Given the description of an element on the screen output the (x, y) to click on. 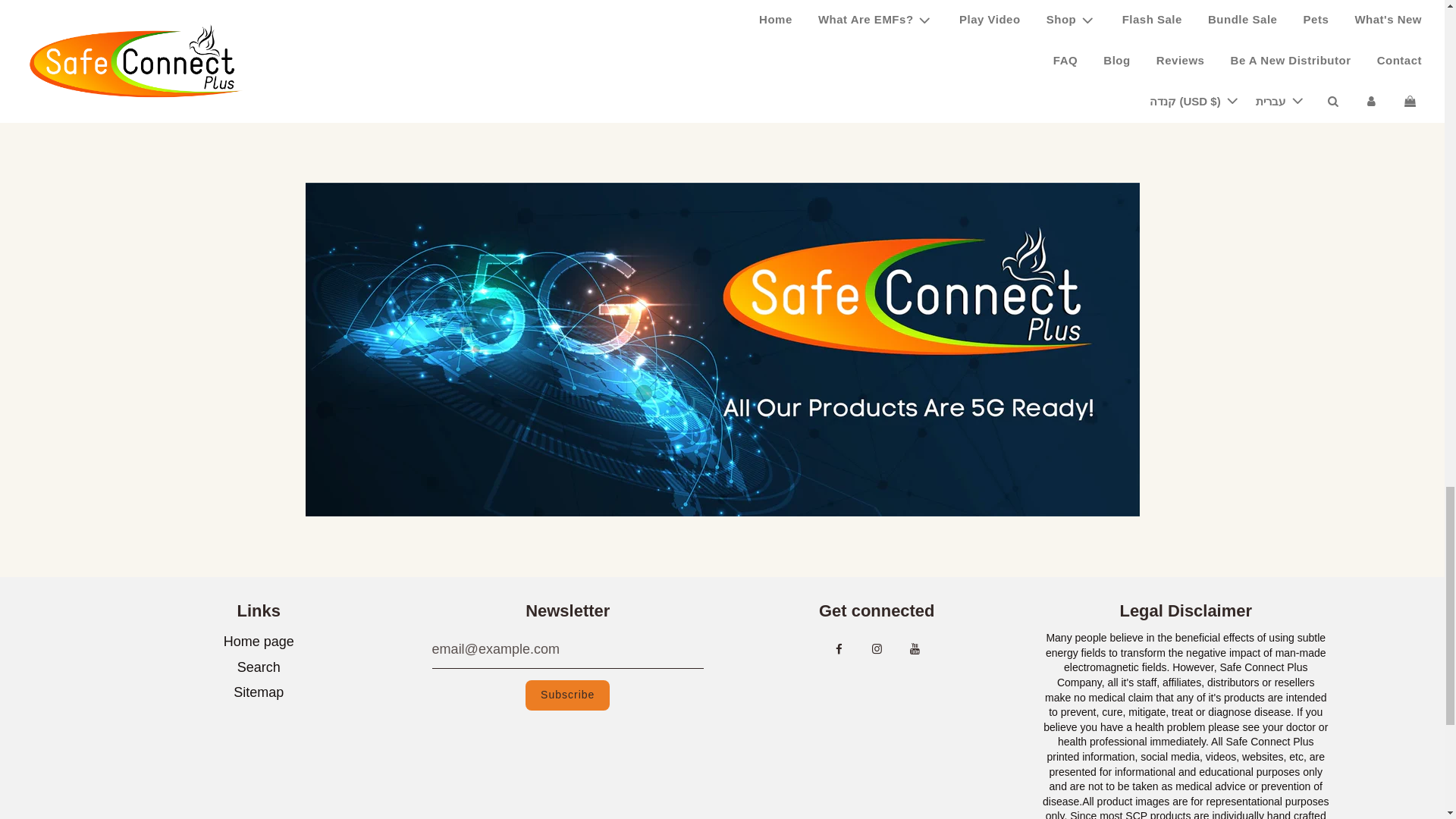
Subscribe (567, 695)
